Given the description of an element on the screen output the (x, y) to click on. 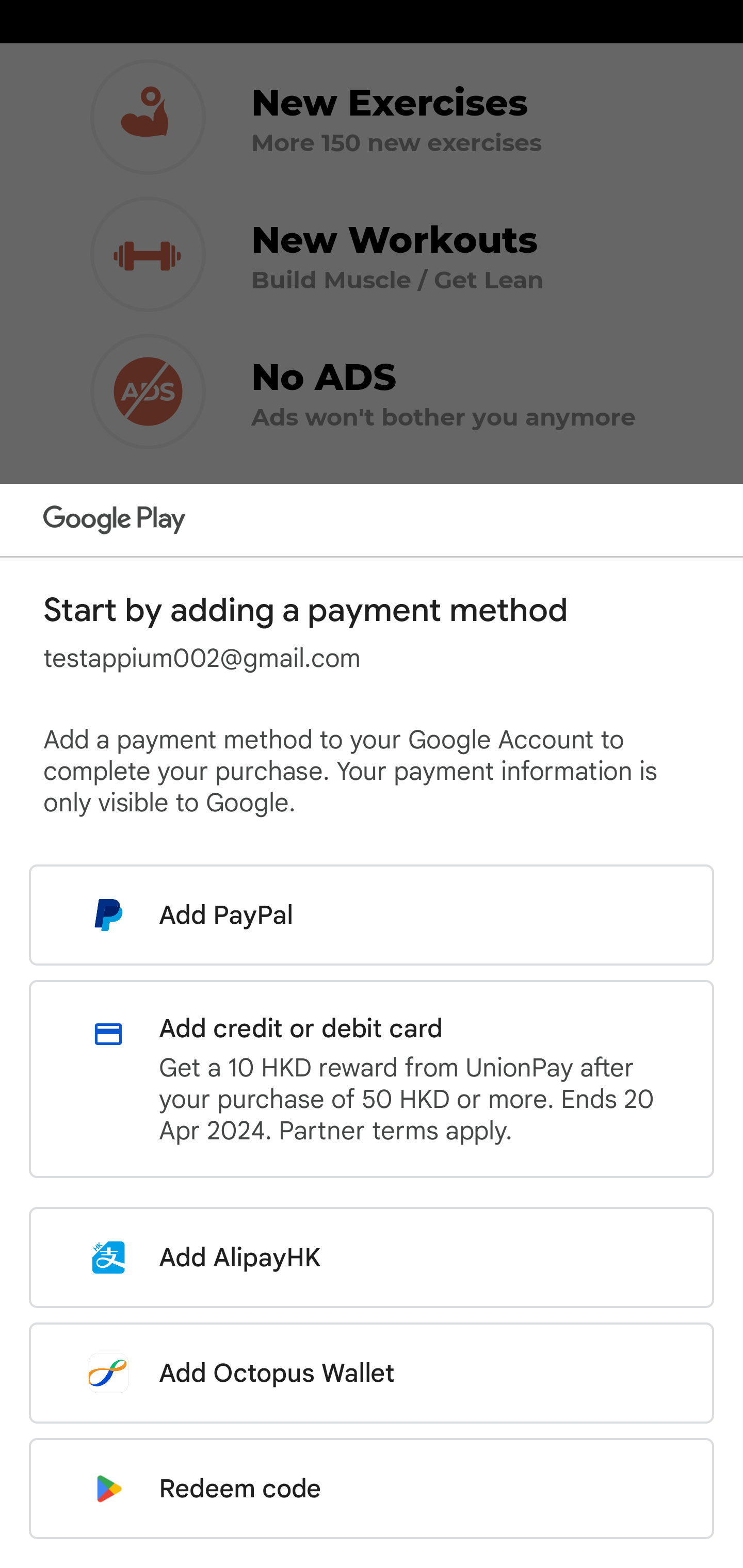
Add PayPal (371, 914)
Add AlipayHK (371, 1257)
Add Octopus Wallet (371, 1372)
Redeem code (371, 1488)
